Given the description of an element on the screen output the (x, y) to click on. 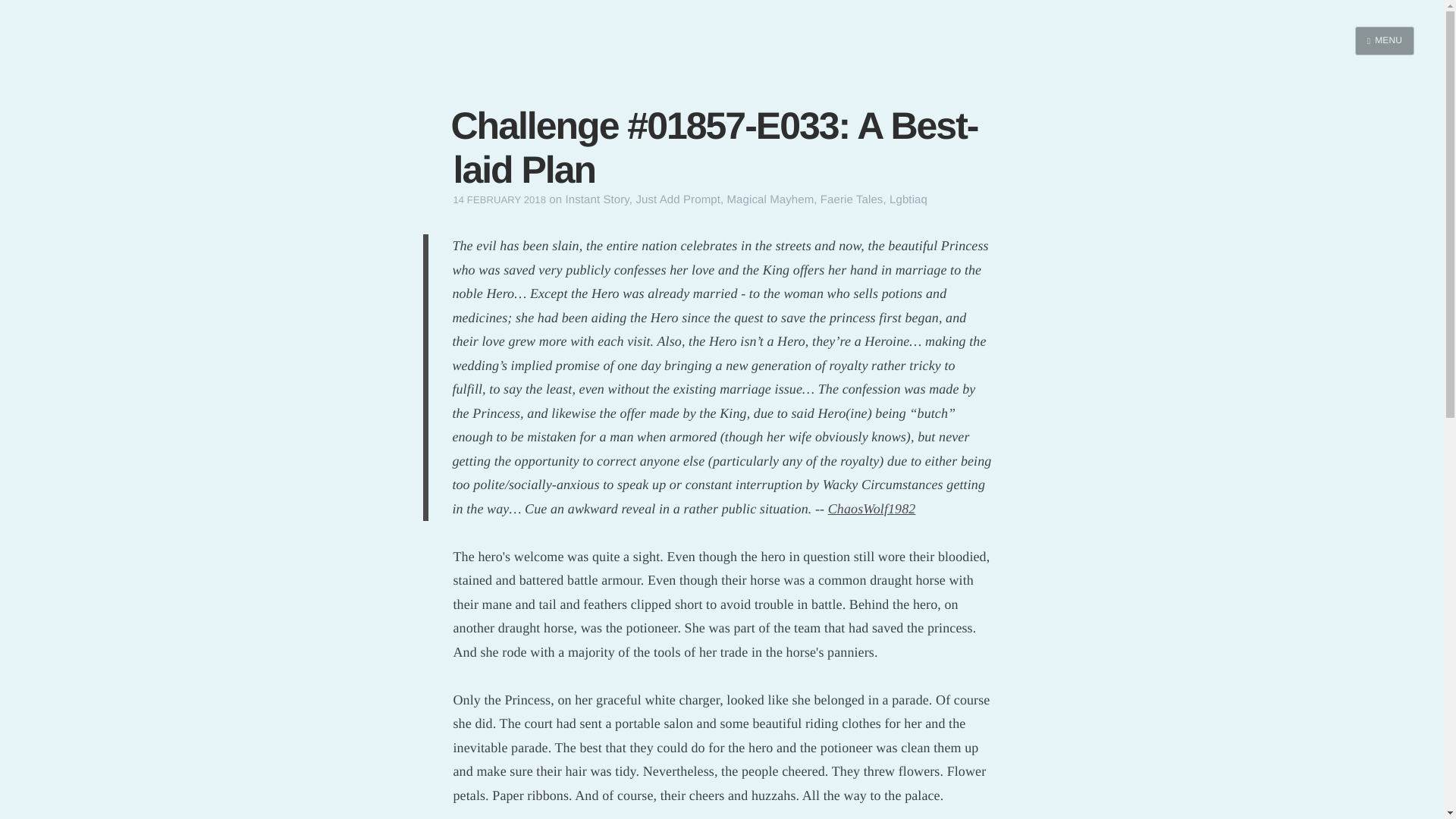
Just Add Prompt (677, 199)
Magical Mayhem (769, 199)
ChaosWolf1982 (871, 507)
Instant Story (596, 199)
Lgbtiaq (908, 199)
Faerie Tales (852, 199)
MENU (1384, 40)
